Given the description of an element on the screen output the (x, y) to click on. 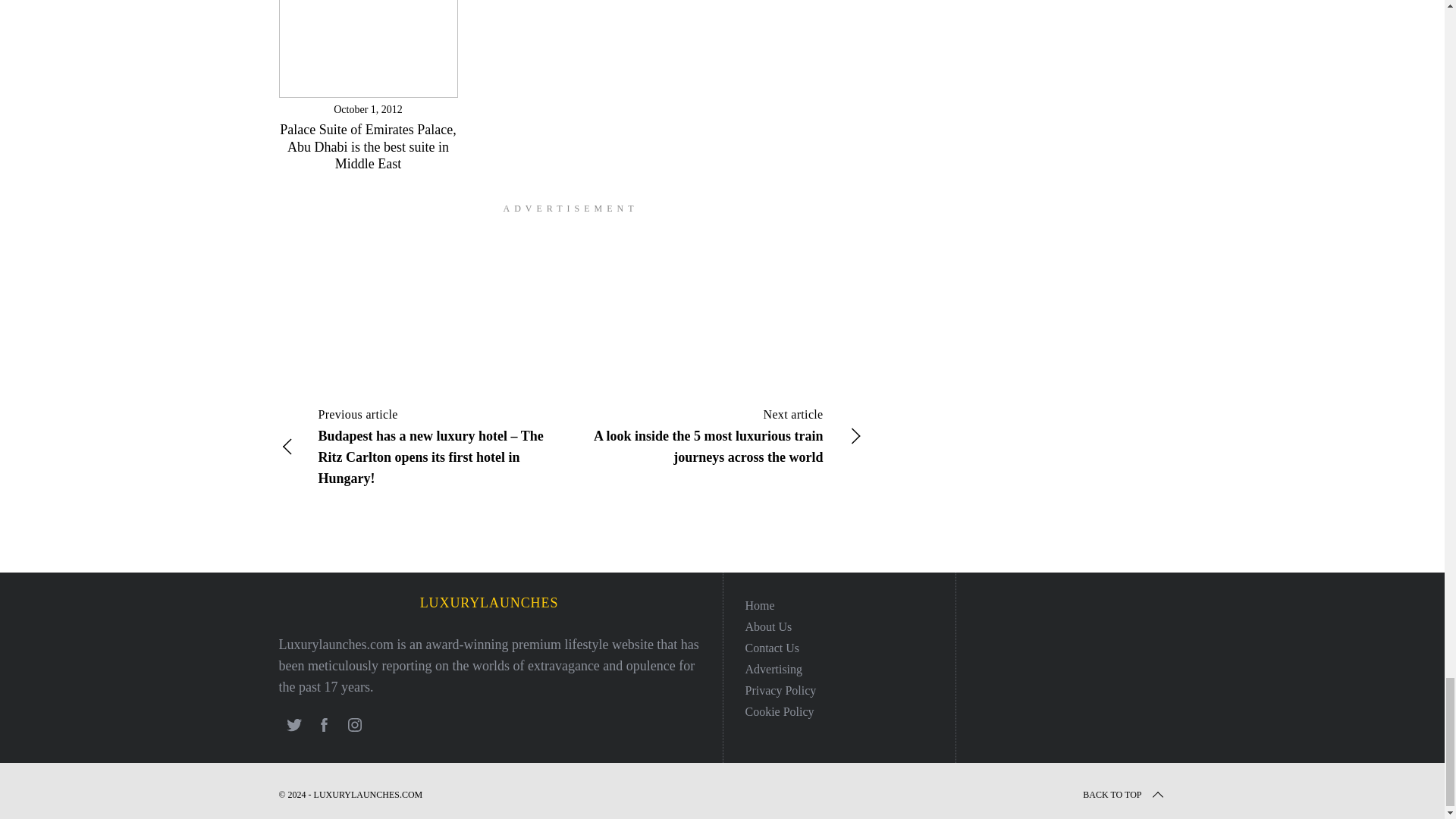
Privacy Policy (779, 689)
Home (759, 604)
Cookie Policy (778, 710)
Advertising (773, 667)
About Us (768, 625)
Contact us (771, 646)
